Given the description of an element on the screen output the (x, y) to click on. 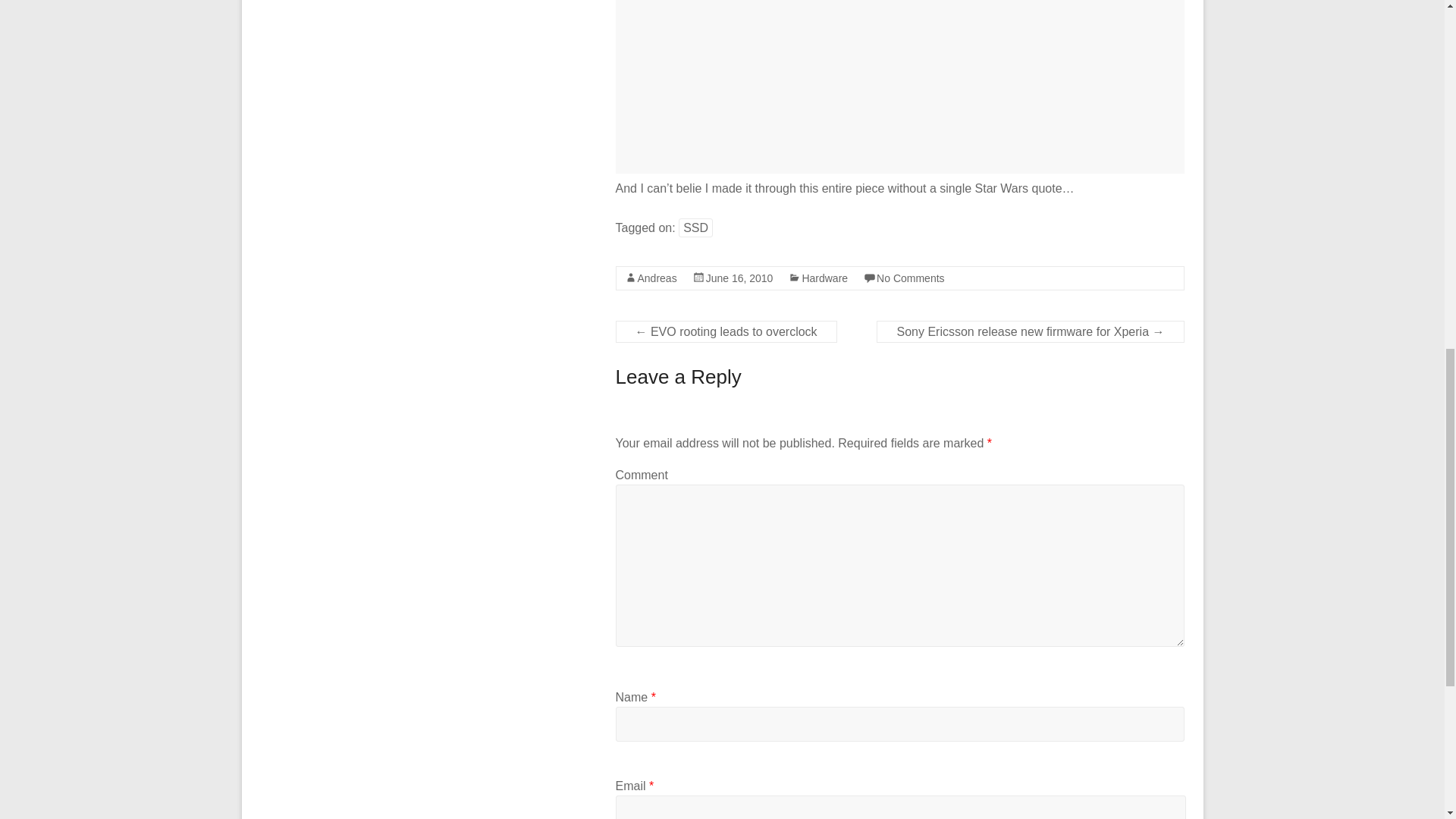
No Comments (909, 277)
Andreas (657, 277)
Advertisement (900, 86)
June 16, 2010 (739, 277)
SSD (695, 227)
23:09 (739, 277)
Hardware (824, 277)
